Given the description of an element on the screen output the (x, y) to click on. 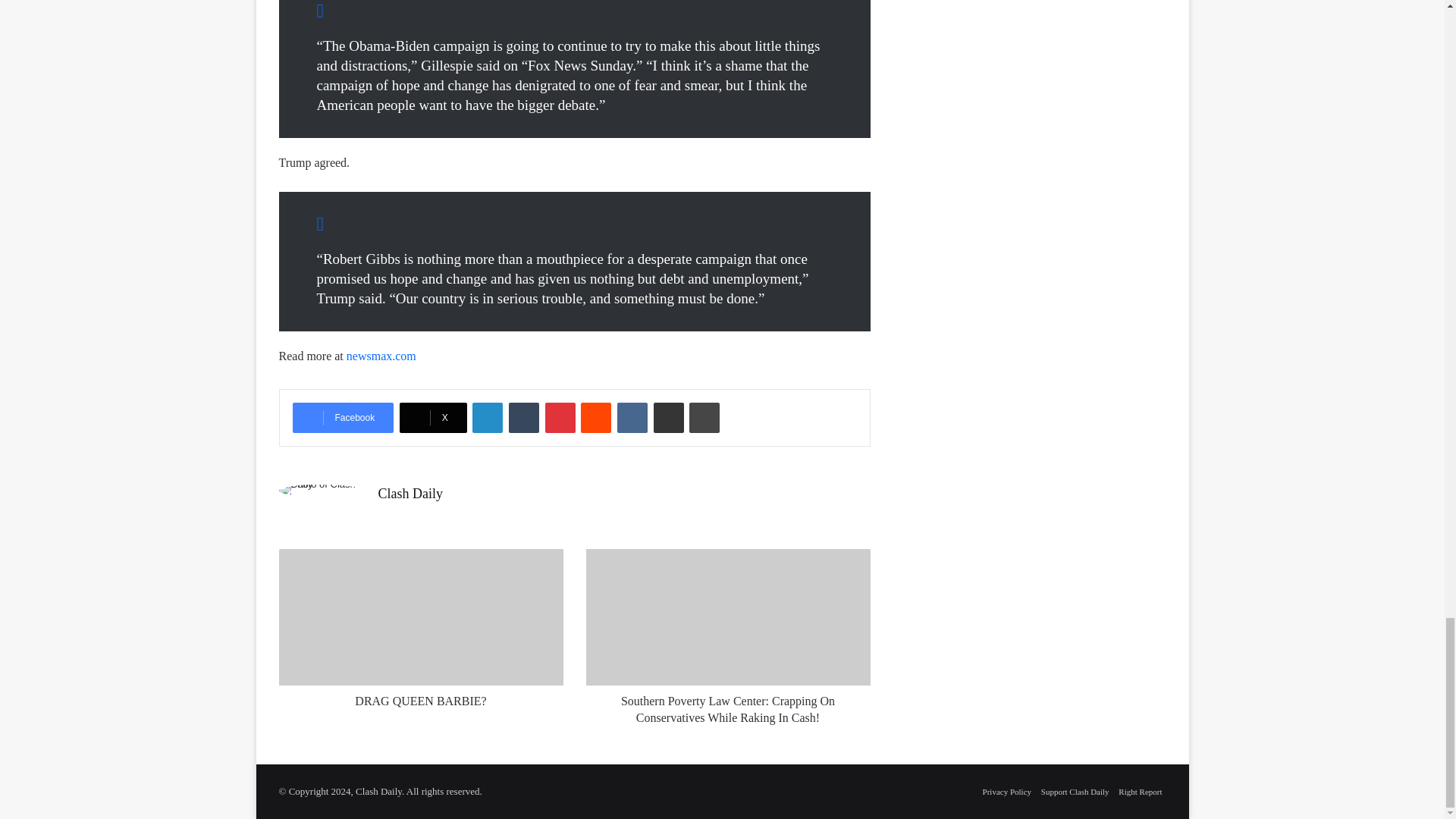
VKontakte (632, 417)
DRAG QUEEN BARBIE? (421, 616)
Print (703, 417)
X (432, 417)
X (432, 417)
Share via Email (668, 417)
Tumblr (523, 417)
Reddit (595, 417)
Reddit (595, 417)
Facebook (343, 417)
